Given the description of an element on the screen output the (x, y) to click on. 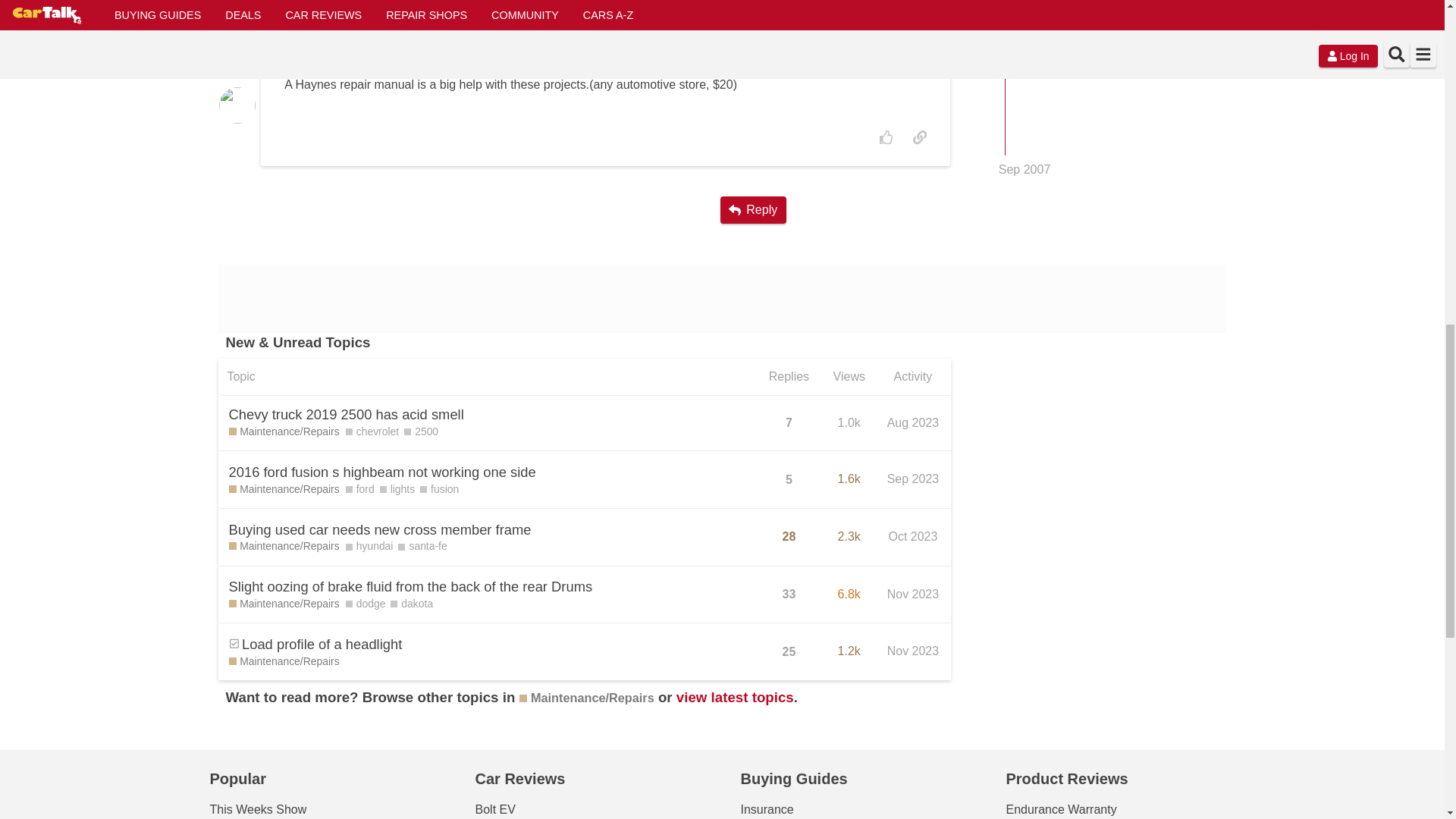
Sep 2007 (1024, 39)
copy a link to this post to clipboard (919, 136)
like this post (886, 136)
Share your car repair and maintenance questions and answers. (283, 432)
Jump to the last post (1024, 39)
this topic has been viewed 1047 times (849, 422)
Reply (753, 209)
